Given the description of an element on the screen output the (x, y) to click on. 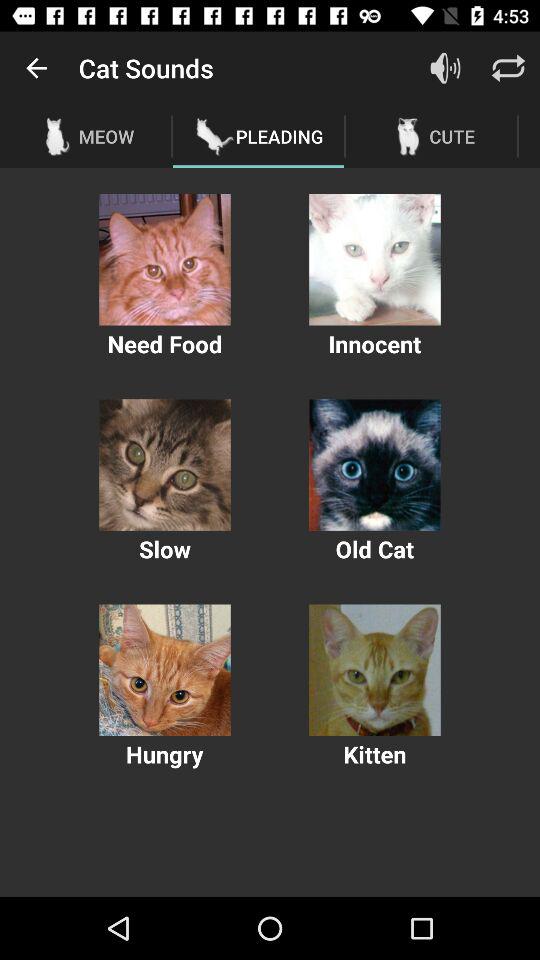
kitten photo (374, 669)
